Given the description of an element on the screen output the (x, y) to click on. 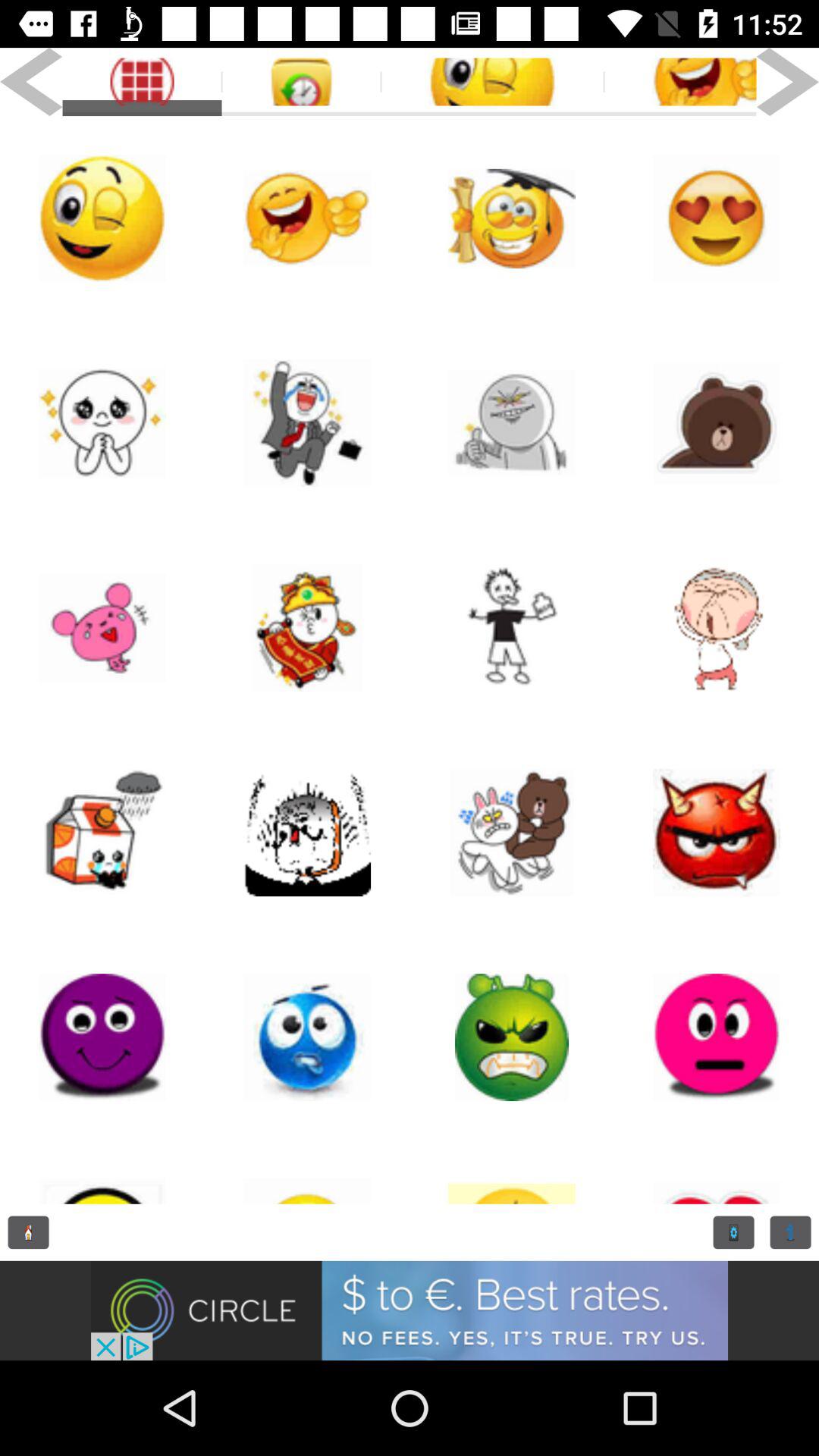
big pega (716, 832)
